Given the description of an element on the screen output the (x, y) to click on. 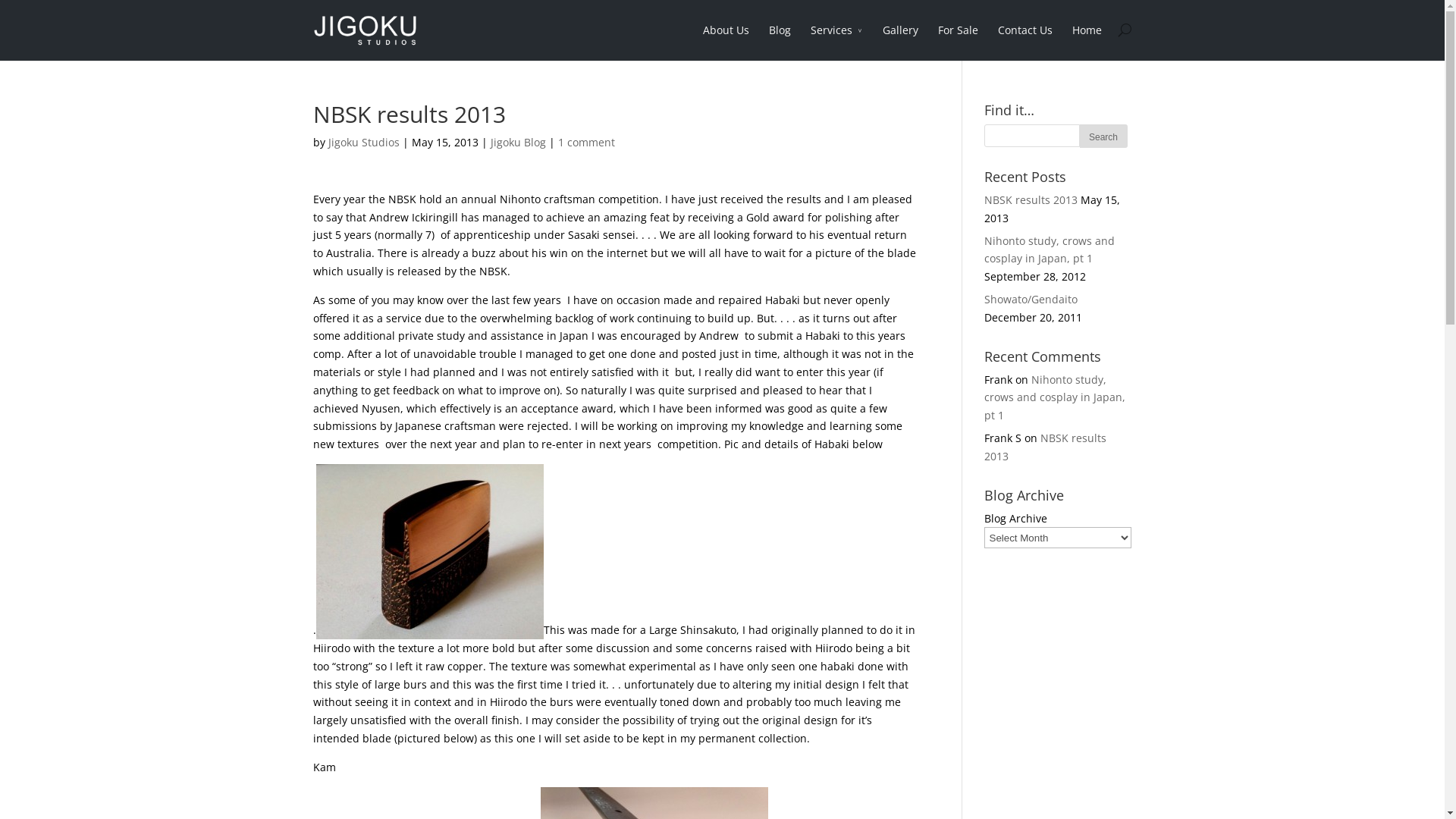
Blog Element type: text (779, 40)
NBSK results 2013 Element type: text (1030, 199)
About Us Element type: text (725, 40)
Gallery Element type: text (900, 40)
NBSK results 2013 Element type: text (1045, 446)
shonai habaki Element type: hover (428, 551)
For Sale Element type: text (957, 40)
Contact Us Element type: text (1024, 40)
Jigoku Blog Element type: text (517, 141)
Services Element type: text (835, 40)
Nihonto study, crows and cosplay in Japan, pt 1 Element type: text (1049, 249)
Search Element type: text (1103, 135)
Home Element type: text (1086, 40)
Jigoku Studios Element type: text (362, 141)
1 comment Element type: text (586, 141)
Nihonto study, crows and cosplay in Japan, pt 1 Element type: text (1054, 397)
Showato/Gendaito Element type: text (1030, 298)
